Given the description of an element on the screen output the (x, y) to click on. 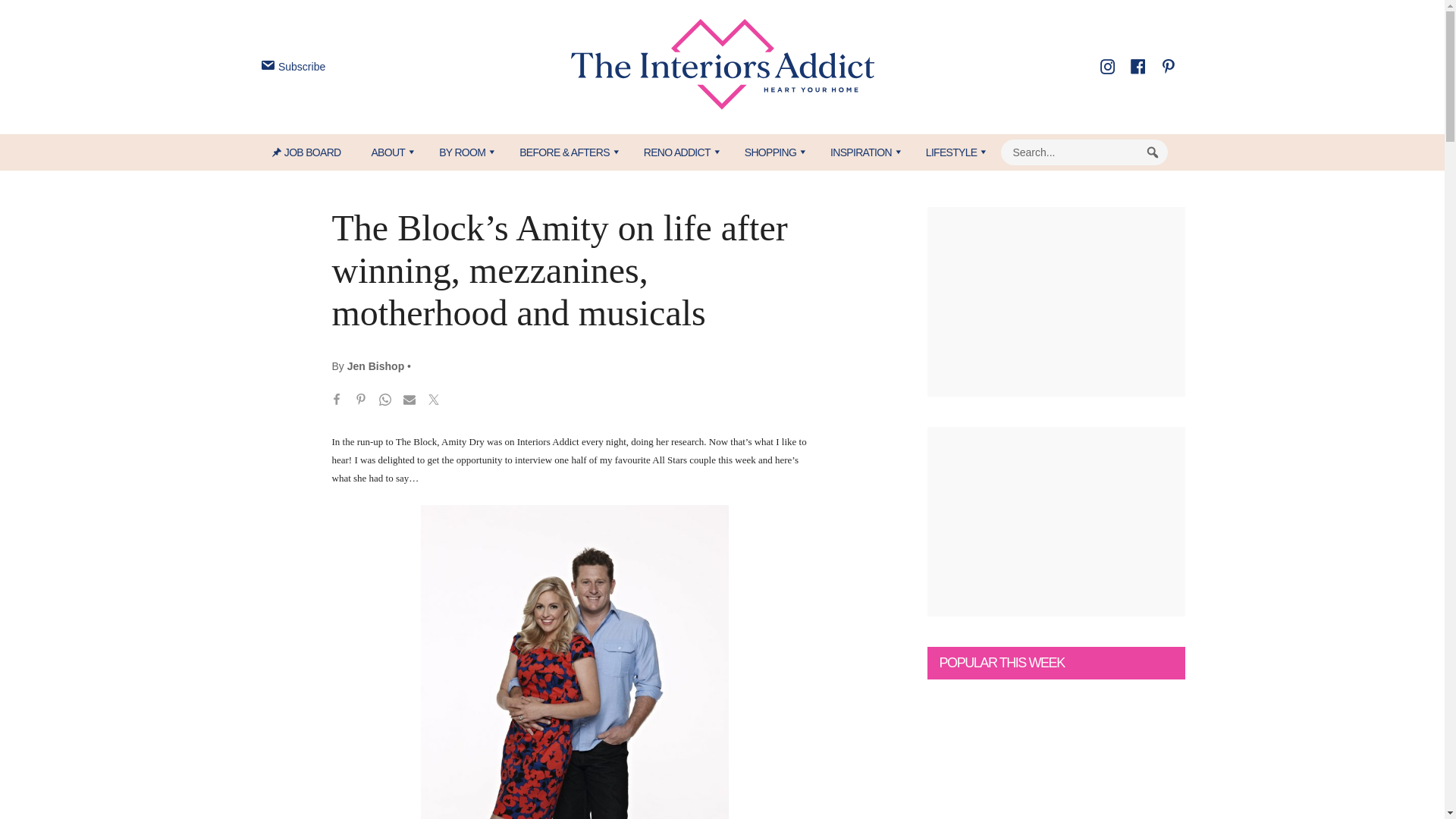
Search (1152, 151)
Share via Email (409, 401)
BY ROOM (463, 152)
Share on Twitter (433, 401)
Subscribe (291, 66)
ABOUT (389, 152)
JOB BOARD (313, 152)
Share on Pinterest (360, 401)
YES PLEASE! (793, 294)
Share on Facebook (336, 401)
